Given the description of an element on the screen output the (x, y) to click on. 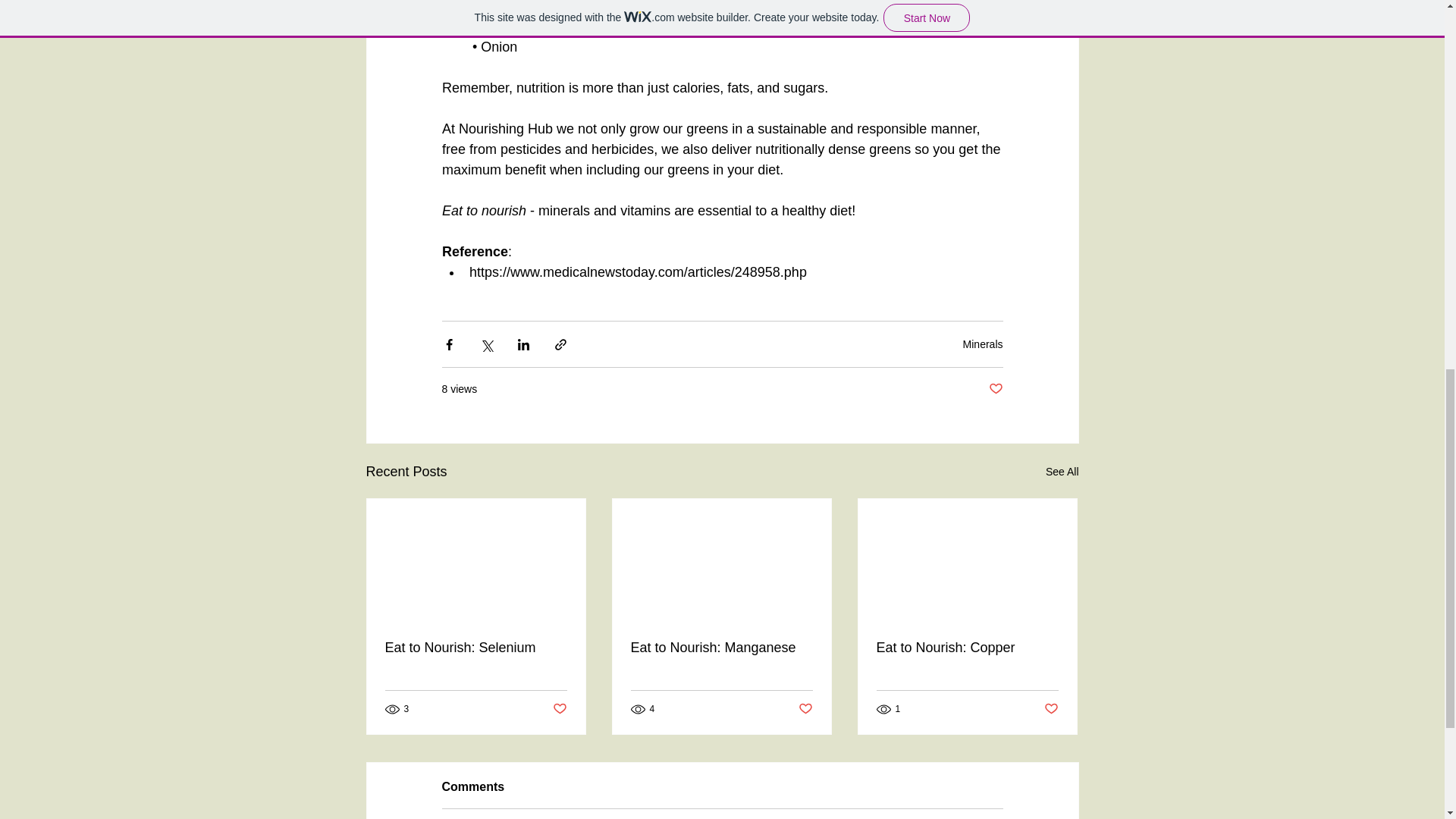
Eat to Nourish: Copper (967, 647)
Eat to Nourish: Manganese (721, 647)
Post not marked as liked (804, 708)
Post not marked as liked (558, 708)
Post not marked as liked (995, 389)
Post not marked as liked (1050, 708)
See All (1061, 472)
Eat to Nourish: Selenium (476, 647)
Minerals (982, 344)
